Given the description of an element on the screen output the (x, y) to click on. 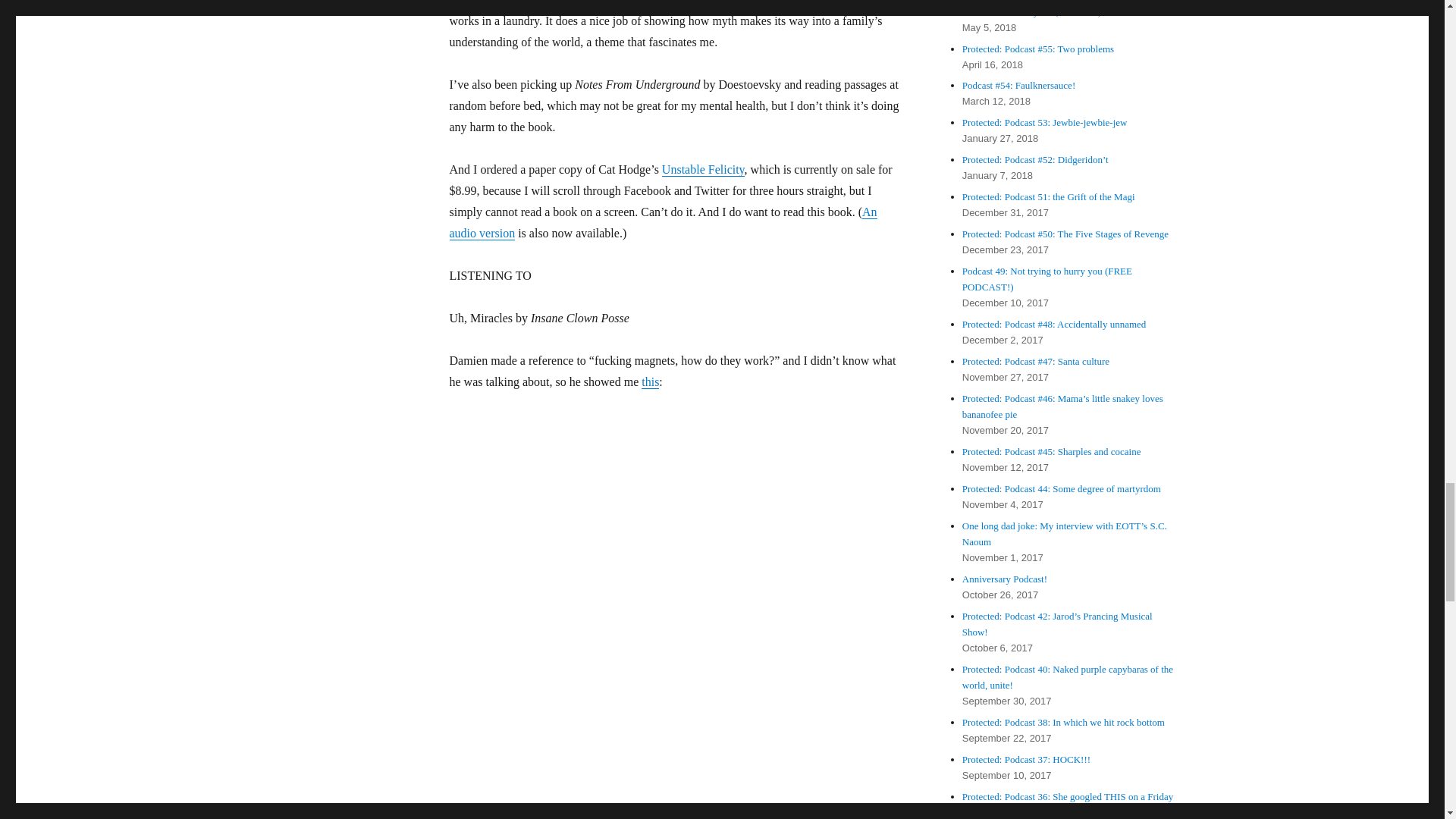
Unstable Felicity (703, 169)
An audio version (662, 222)
this (650, 381)
